Given the description of an element on the screen output the (x, y) to click on. 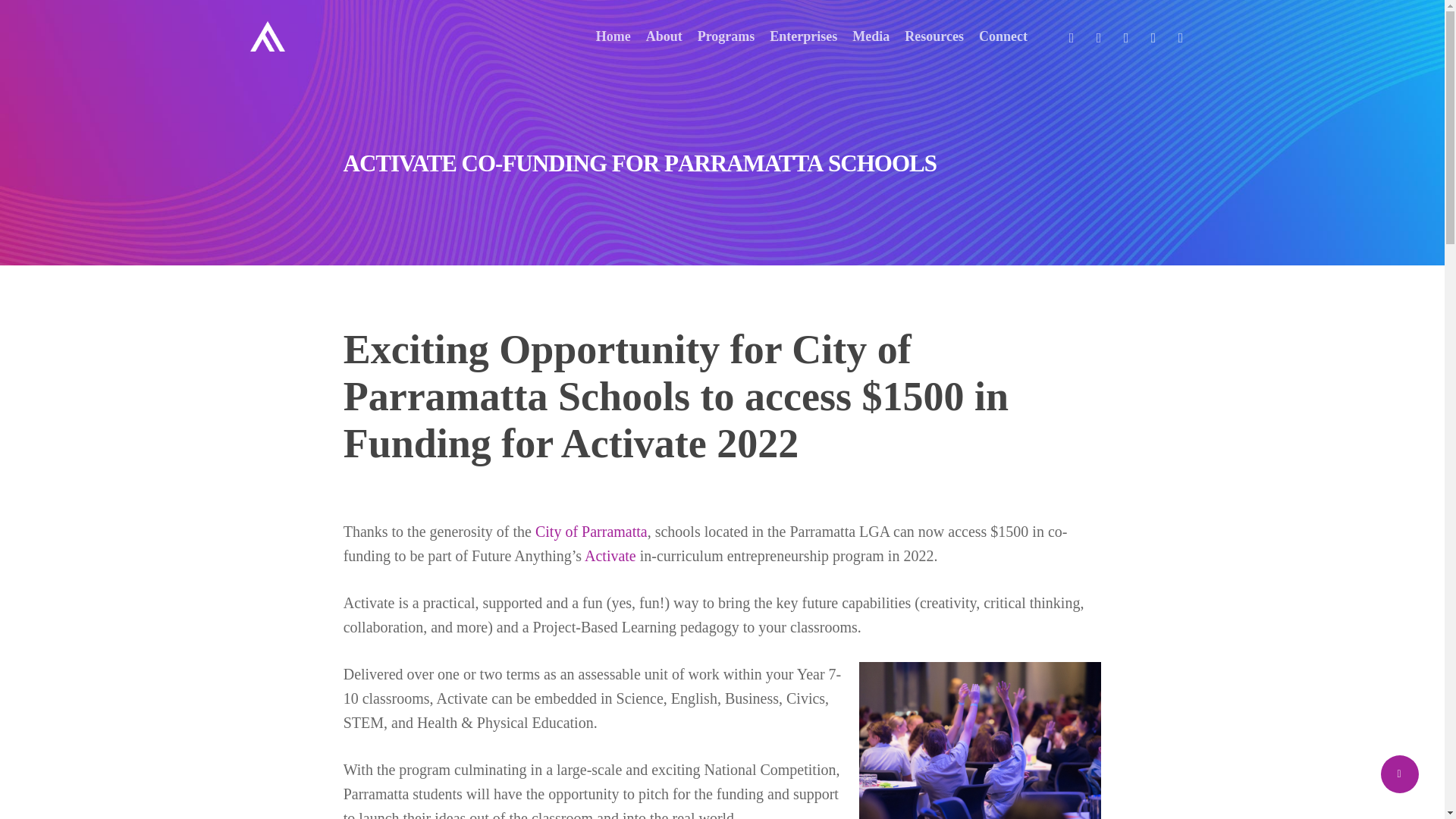
Media (870, 36)
Programs (726, 36)
Resources (933, 36)
Enterprises (803, 36)
Connect (1002, 36)
About (664, 36)
twitter (1071, 36)
Home (612, 36)
